Given the description of an element on the screen output the (x, y) to click on. 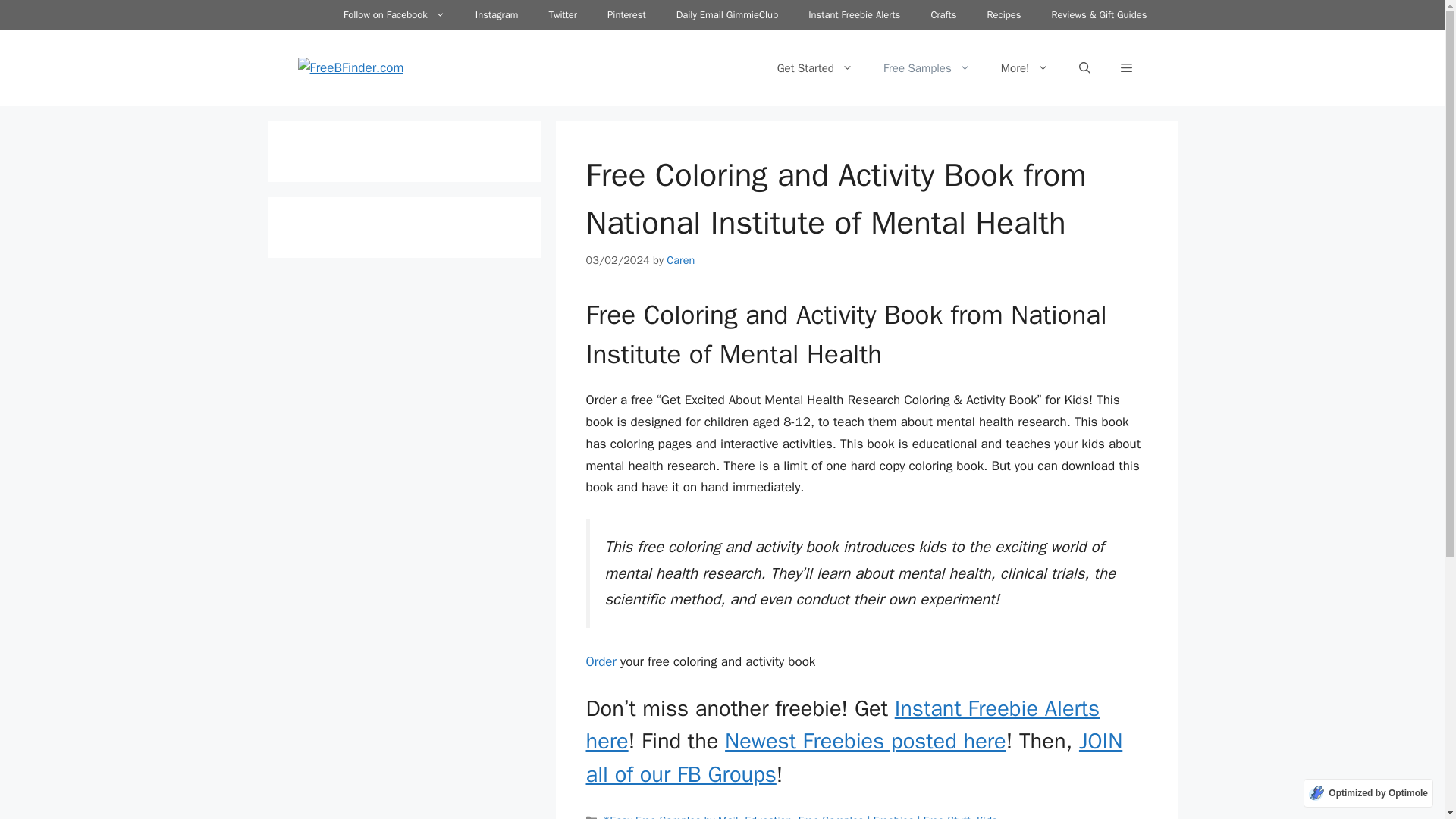
Pinterest (626, 15)
Caren (680, 259)
Recipes (1003, 15)
Follow on Facebook (394, 15)
Twitter (562, 15)
Free Samples (926, 67)
Order (600, 661)
Instant Freebie Alerts here (842, 724)
Crafts (943, 15)
View all posts by Caren (680, 259)
